Given the description of an element on the screen output the (x, y) to click on. 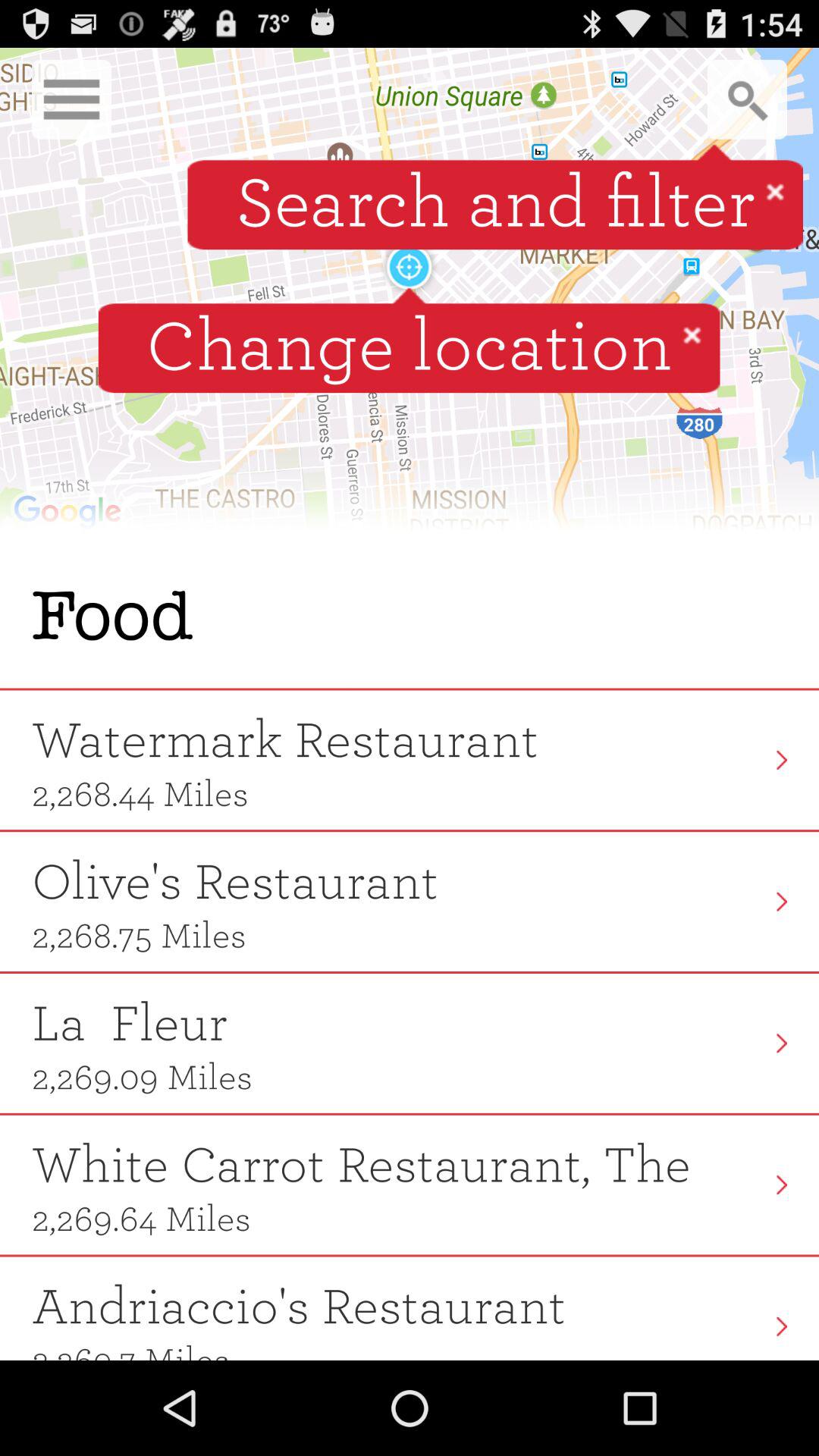
exit option (692, 334)
